Given the description of an element on the screen output the (x, y) to click on. 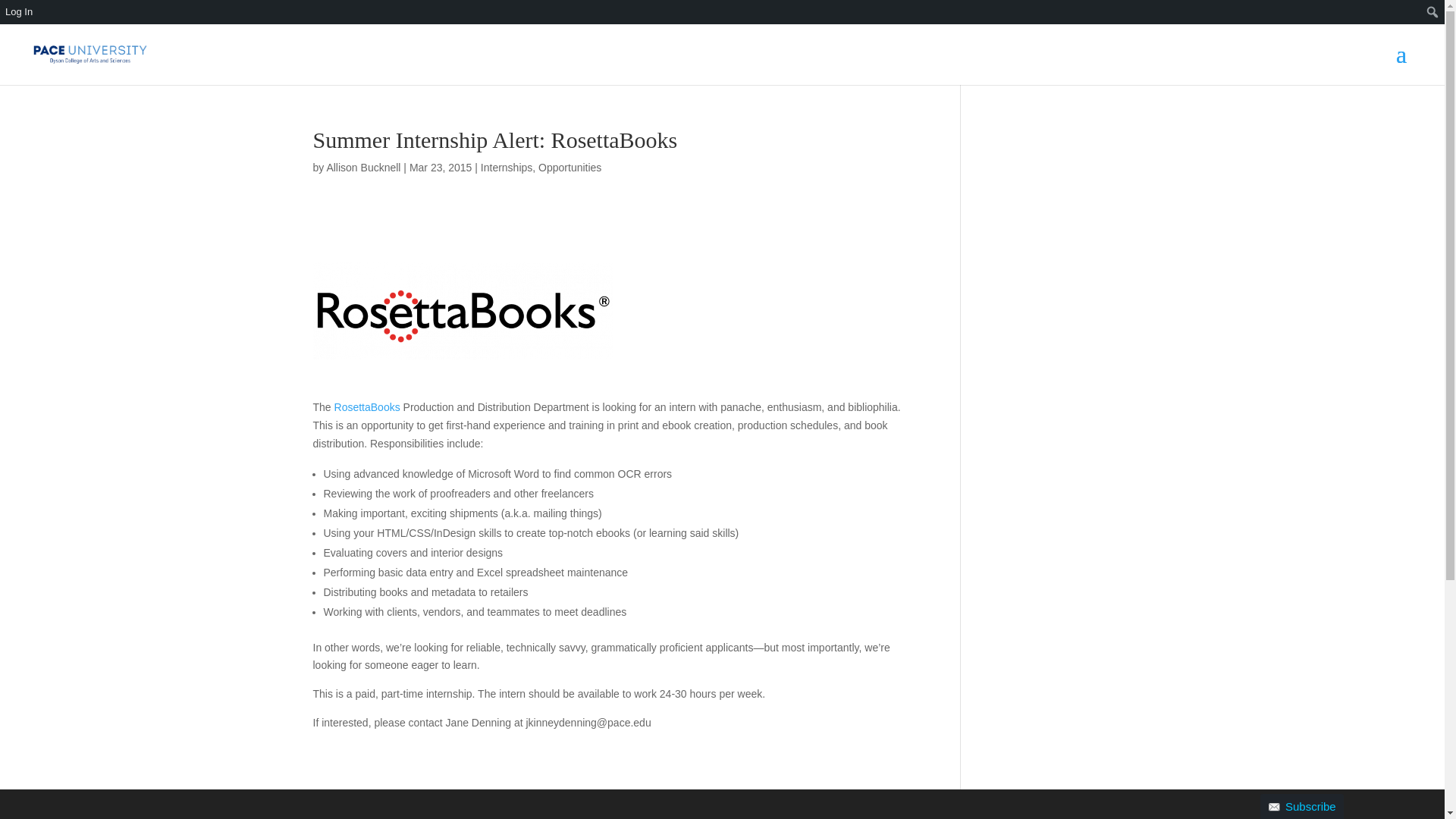
Subscribe By Email (42, 36)
Internships (506, 167)
Log In (42, 12)
Posts by Allison Bucknell (363, 167)
RosettaBooks (367, 407)
Allison Bucknell (363, 167)
Subscribe (1301, 806)
Opportunities (569, 167)
Search (16, 13)
